Given the description of an element on the screen output the (x, y) to click on. 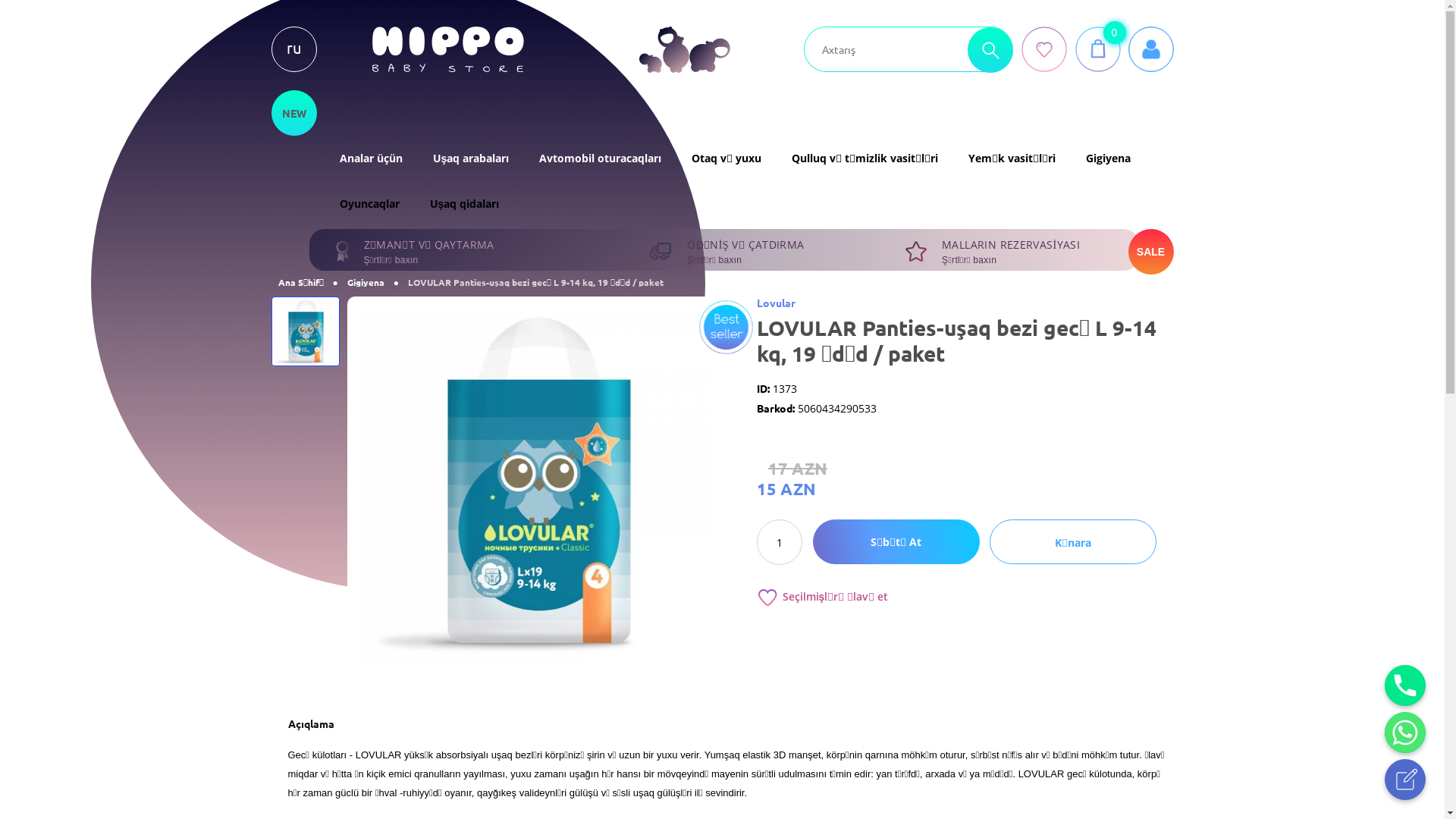
Oyuncaqlar Element type: text (369, 203)
ru Element type: text (293, 49)
NEW Element type: text (293, 112)
0 Element type: text (1097, 49)
Gigiyena Element type: text (1107, 158)
Gigiyena Element type: text (365, 282)
